Given the description of an element on the screen output the (x, y) to click on. 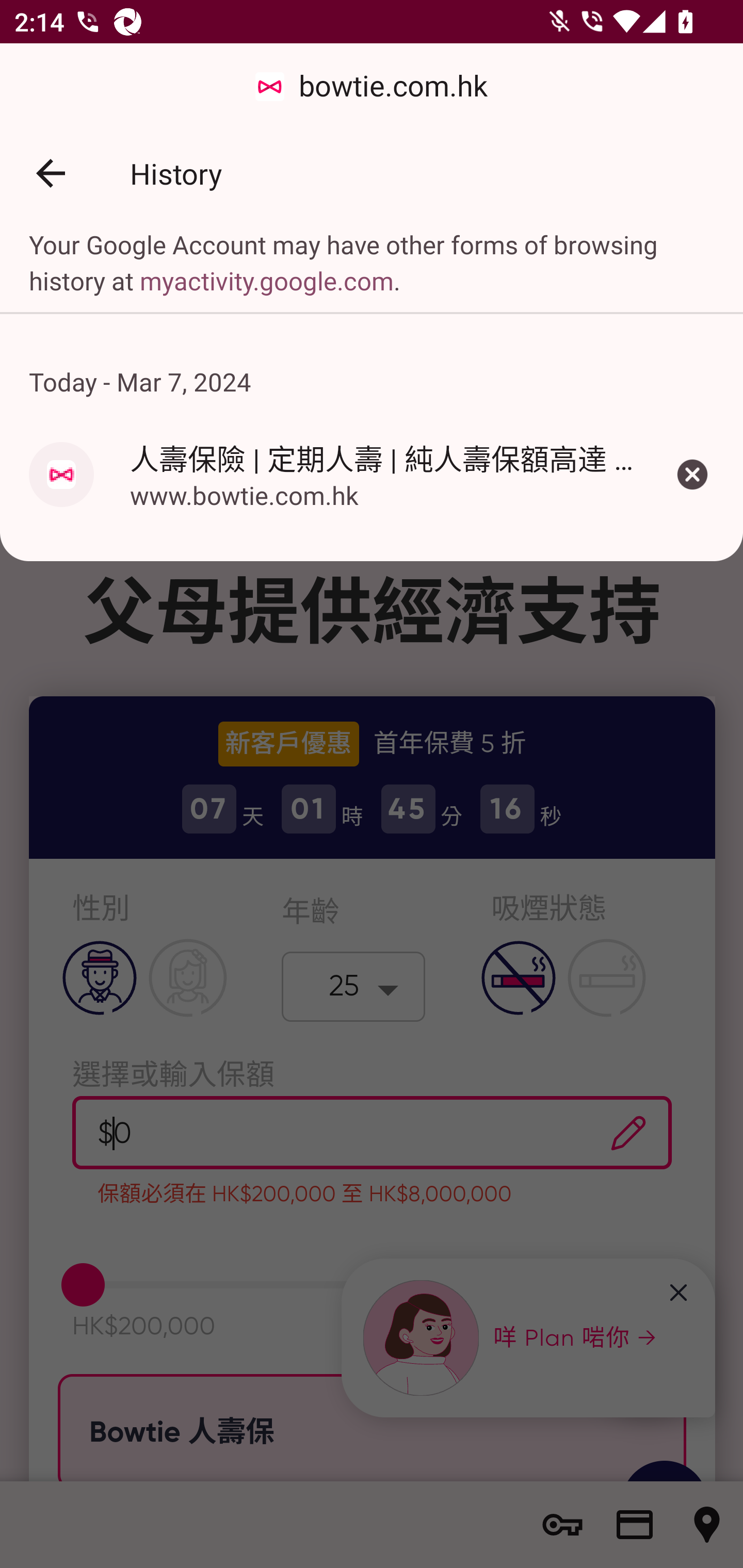
bowtie.com.hk (371, 86)
Back (50, 173)
人壽保險 | 定期人壽 | 純人壽保額高達 $2000 萬 | Bowtie Remove (692, 474)
